Given the description of an element on the screen output the (x, y) to click on. 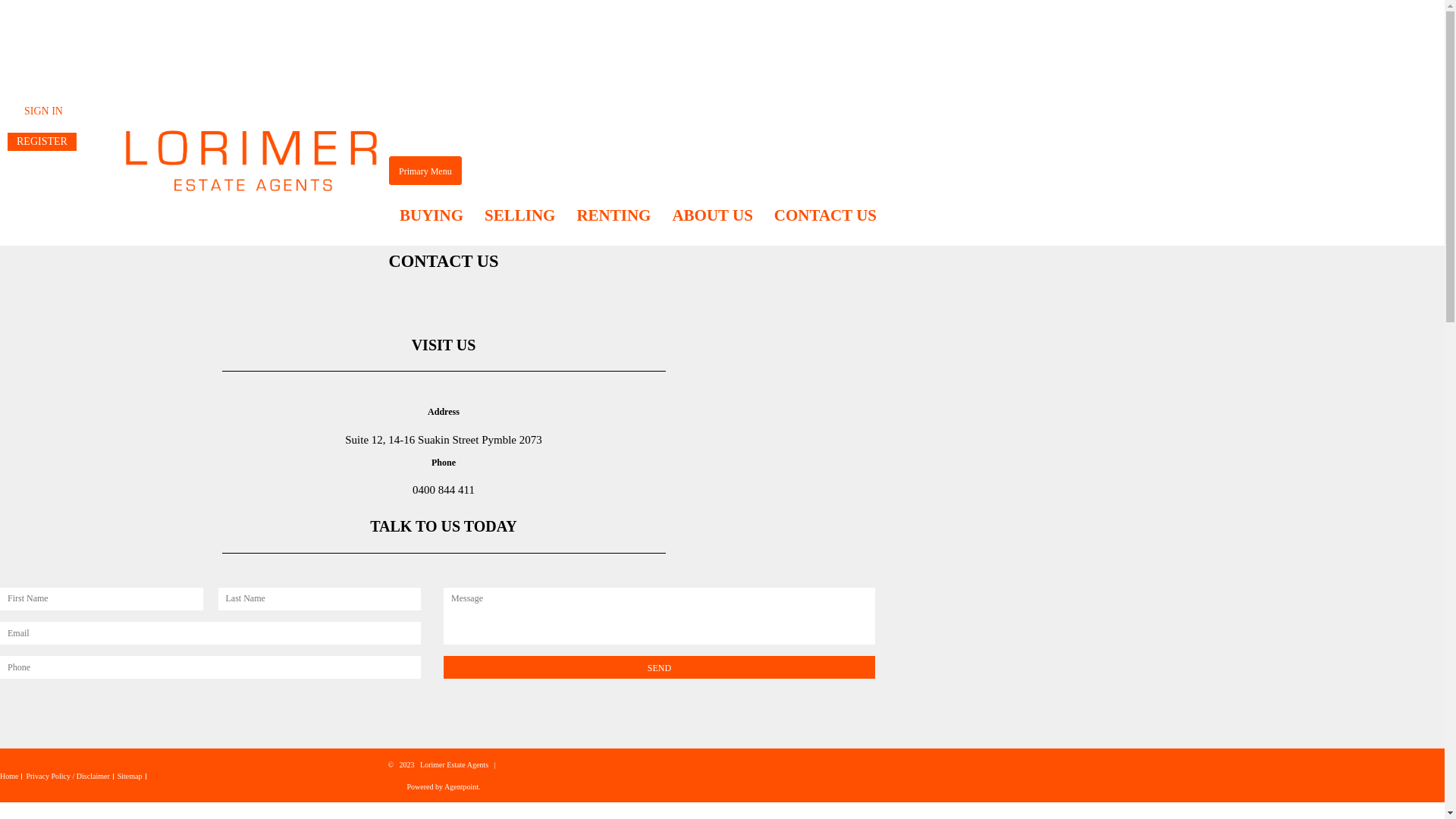
SEND Element type: text (659, 666)
REGISTER Element type: text (41, 141)
SIGN IN Element type: text (43, 111)
CONTACT US Element type: text (825, 215)
Primary Menu Element type: text (425, 170)
Privacy Policy / Disclaimer Element type: text (67, 775)
BUYING Element type: text (431, 215)
Sitemap Element type: text (129, 775)
Home Element type: text (9, 775)
ABOUT US Element type: text (711, 215)
Agentpoint Element type: text (461, 786)
SELLING Element type: text (519, 215)
0400 844 411 Element type: text (443, 489)
RENTING Element type: text (613, 215)
